Given the description of an element on the screen output the (x, y) to click on. 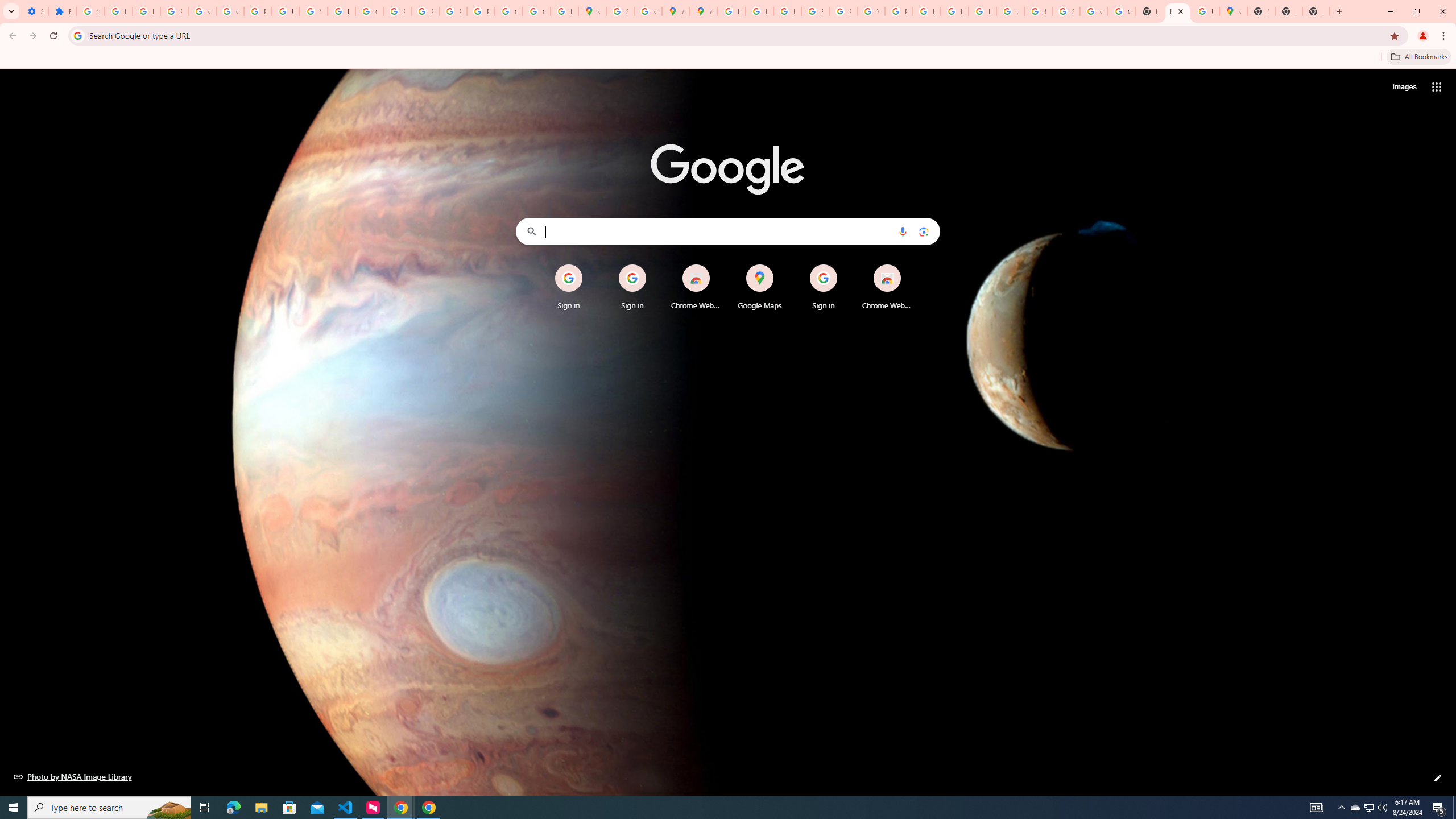
Sign in - Google Accounts (620, 11)
Settings - On startup (34, 11)
Create your Google Account (647, 11)
YouTube (313, 11)
Google Maps (760, 287)
Policy Accountability and Transparency - Transparency Center (731, 11)
